Given the description of an element on the screen output the (x, y) to click on. 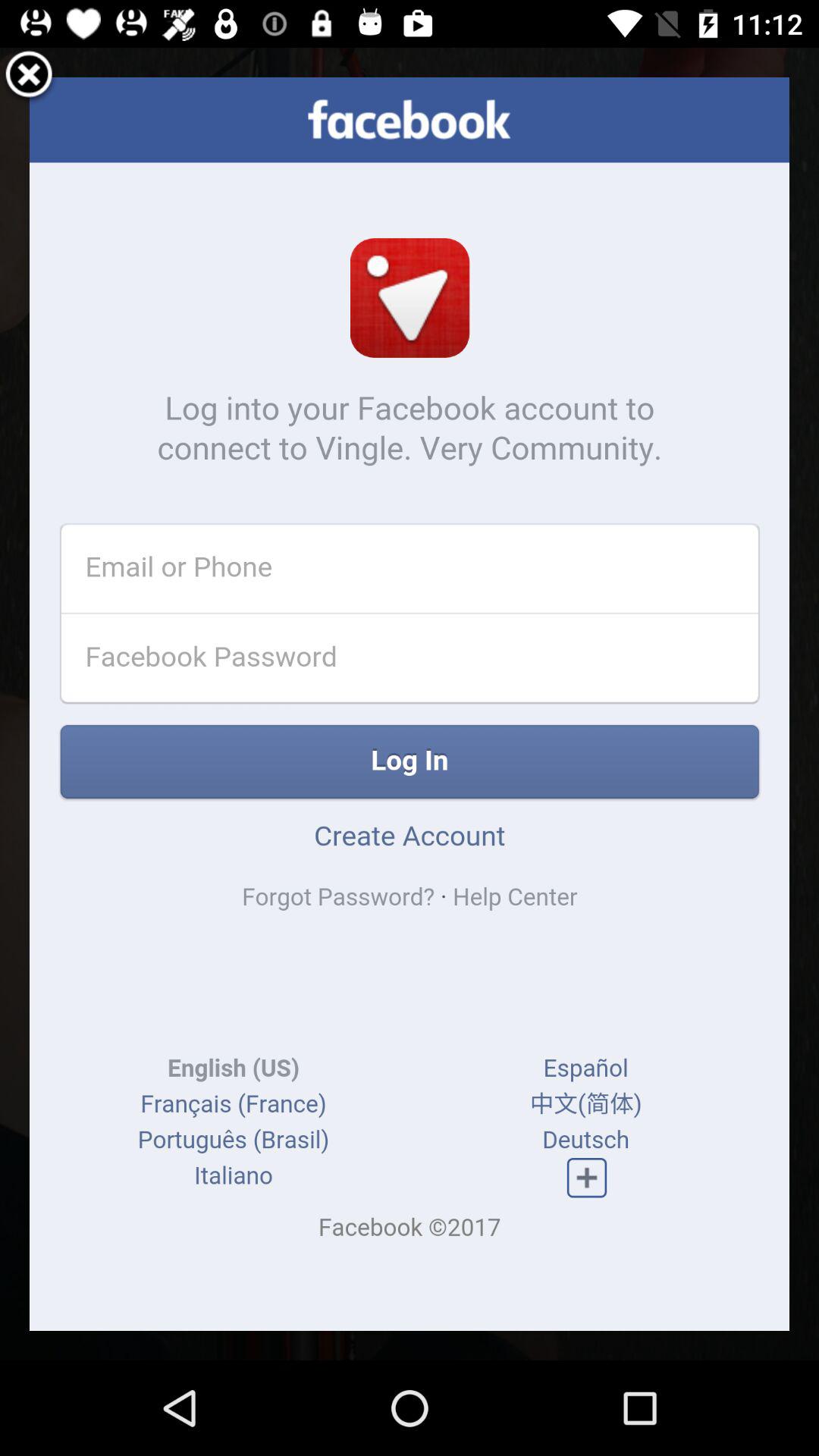
log in to facebook (409, 703)
